Given the description of an element on the screen output the (x, y) to click on. 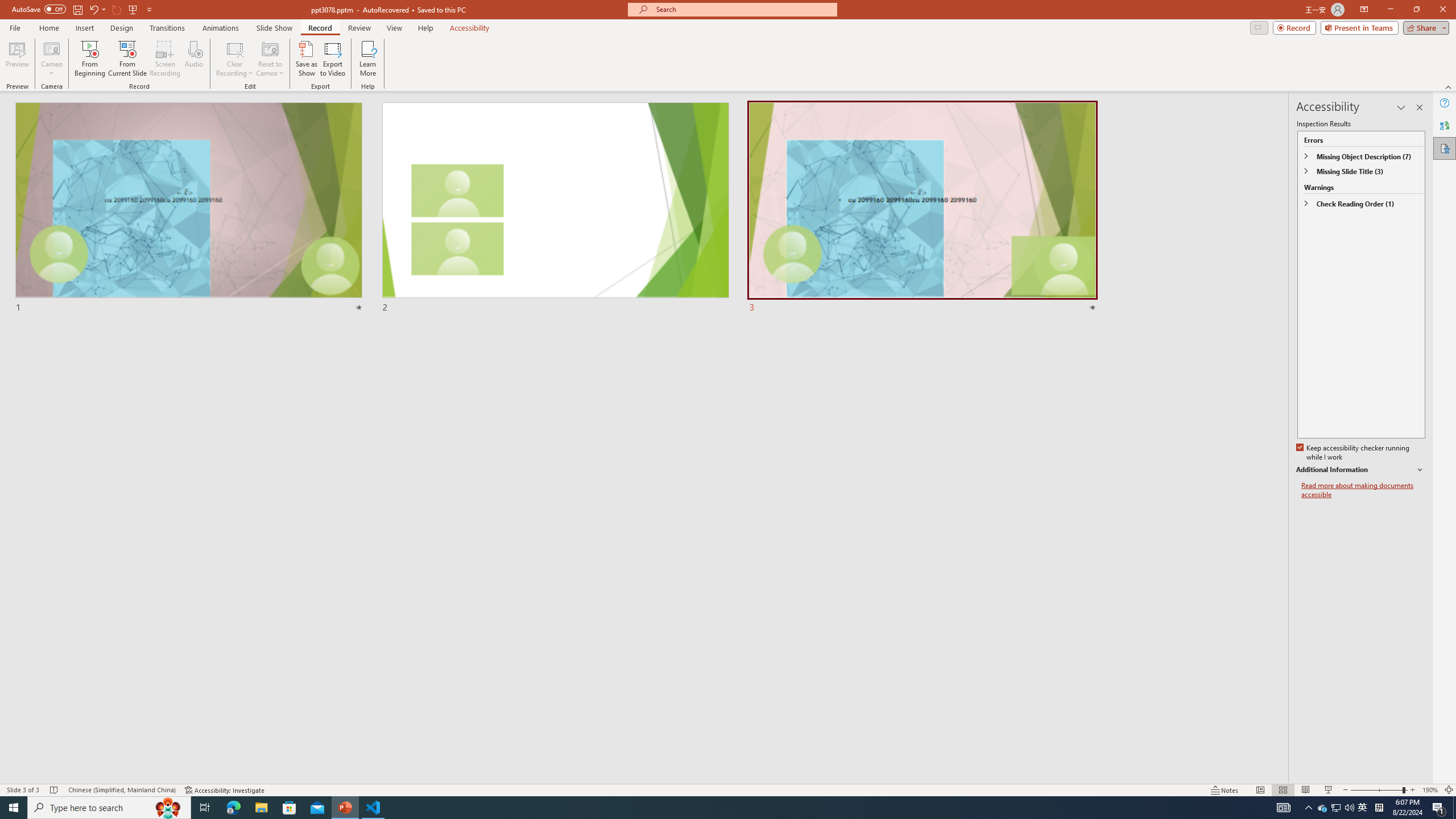
From Beginning... (89, 58)
Reset to Cameo (269, 58)
Clear Recording (234, 58)
